Given the description of an element on the screen output the (x, y) to click on. 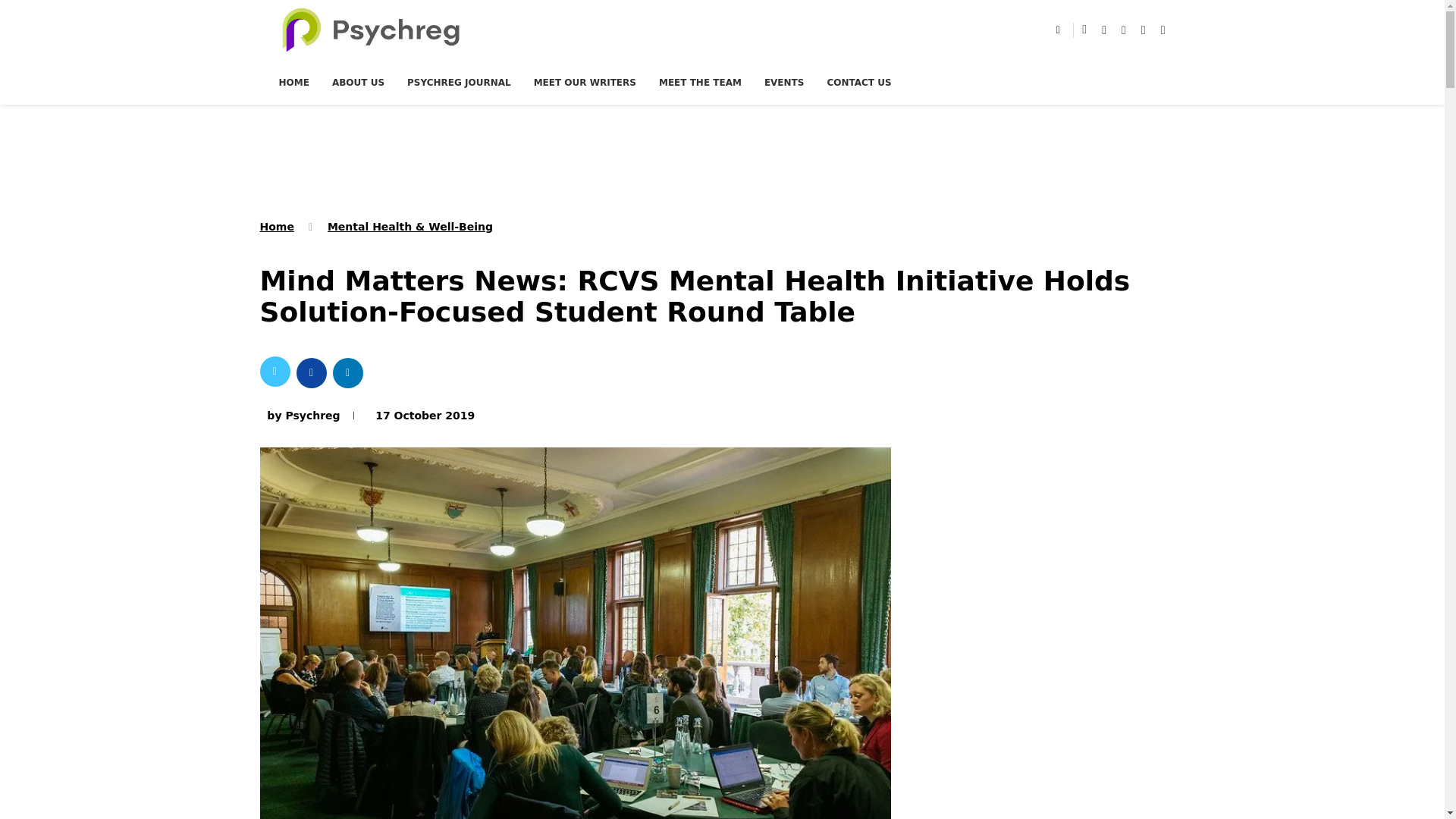
3rd party ad content (1049, 605)
PSYCHREG JOURNAL (459, 82)
MEET OUR WRITERS (585, 82)
EVENTS (784, 82)
ABOUT US (357, 82)
CONTACT US (859, 82)
3rd party ad content (722, 160)
MEET THE TEAM (700, 82)
